Given the description of an element on the screen output the (x, y) to click on. 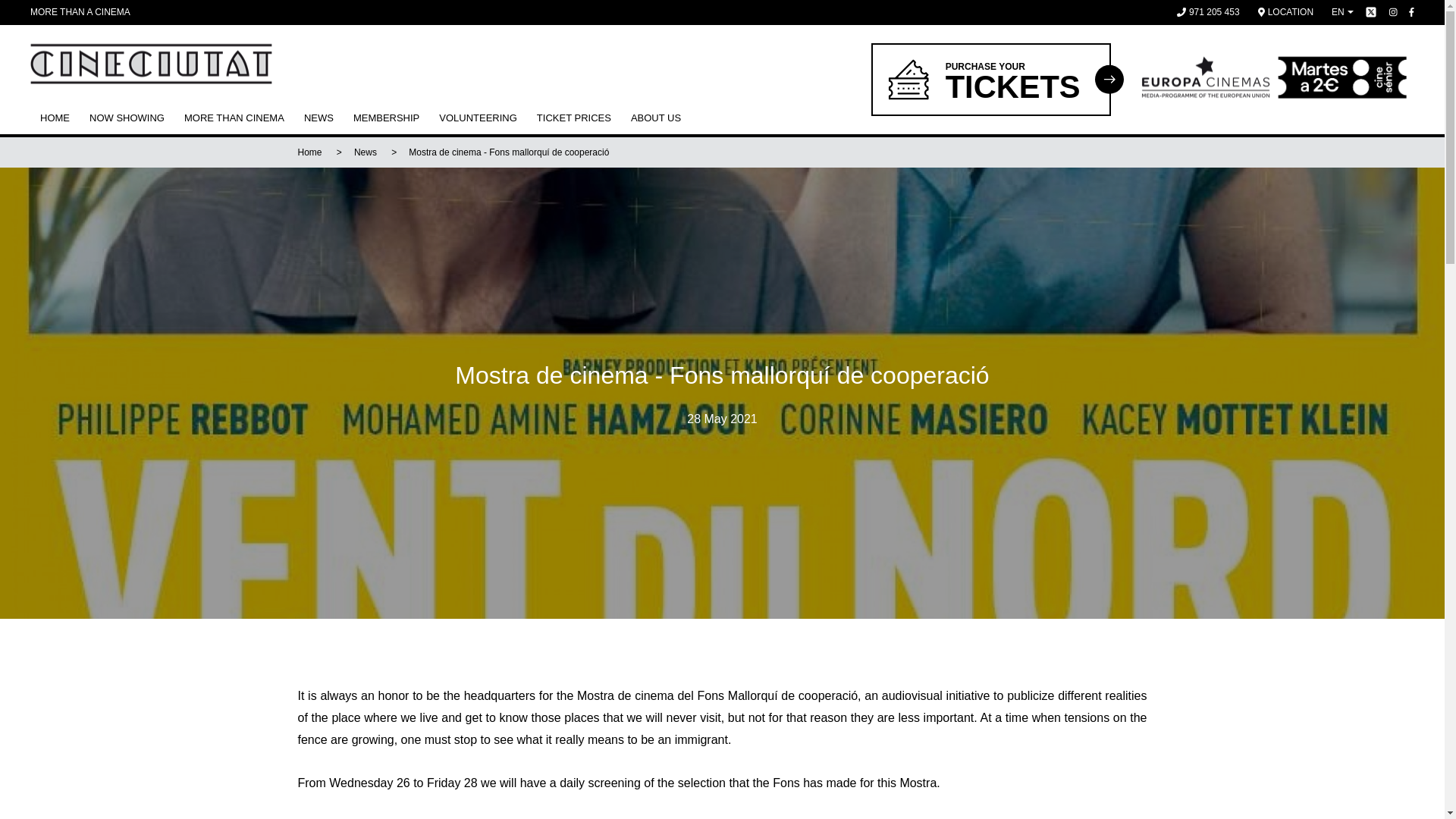
971 205 453 (1208, 11)
News (990, 79)
NEWS (365, 152)
VOLUNTEERING (318, 118)
LOCATION (478, 118)
NOW SHOWING (1285, 11)
HOME (127, 118)
Home (55, 118)
TICKET PRICES (309, 152)
